Given the description of an element on the screen output the (x, y) to click on. 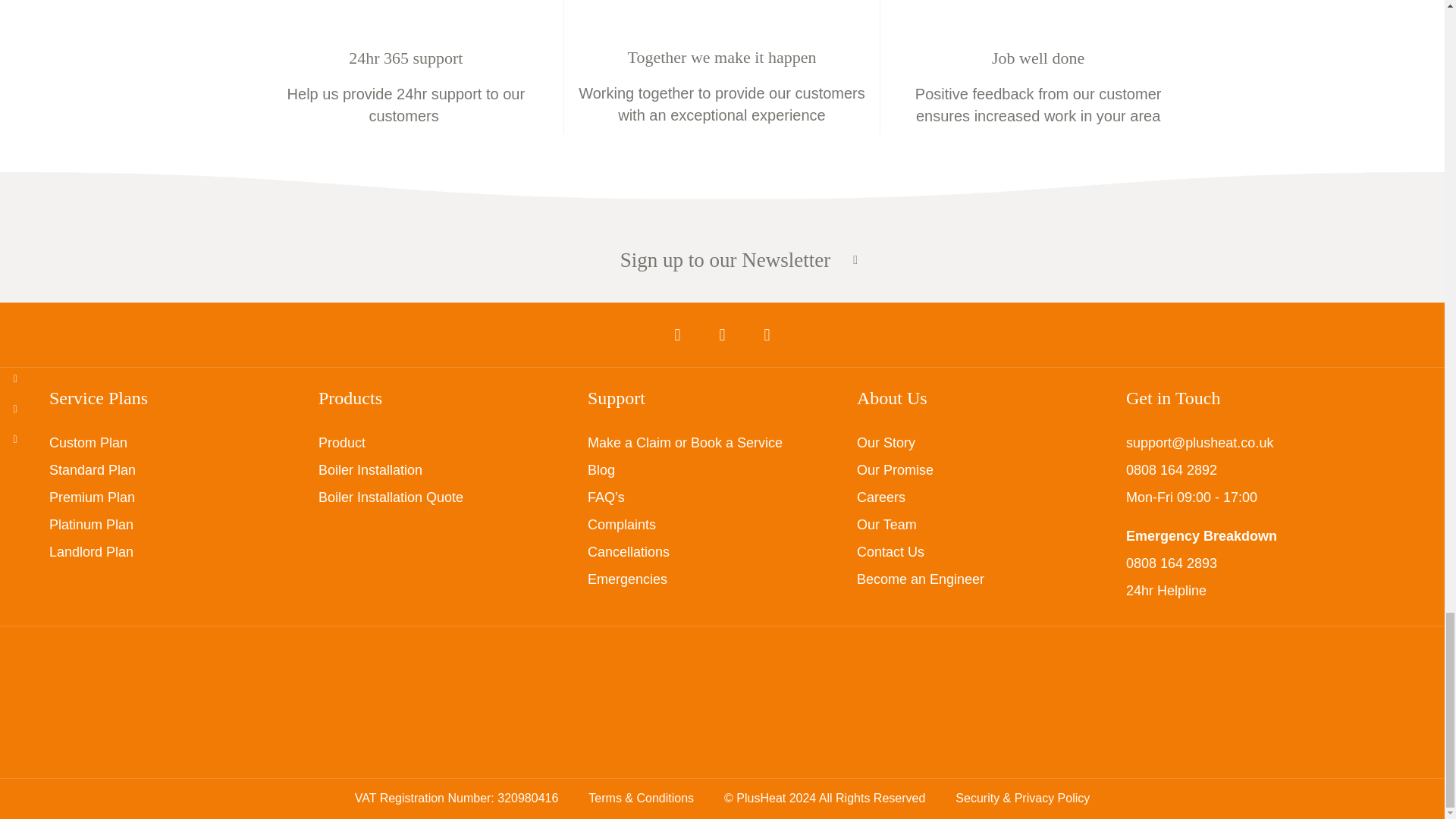
Instagram (766, 334)
Twitter (721, 334)
Custom Plan (88, 442)
Premium Plan (92, 497)
Platinum Plan (91, 524)
Landlord Plan (91, 551)
Standard Plan (92, 469)
Facebook (677, 334)
Product (341, 442)
